Given the description of an element on the screen output the (x, y) to click on. 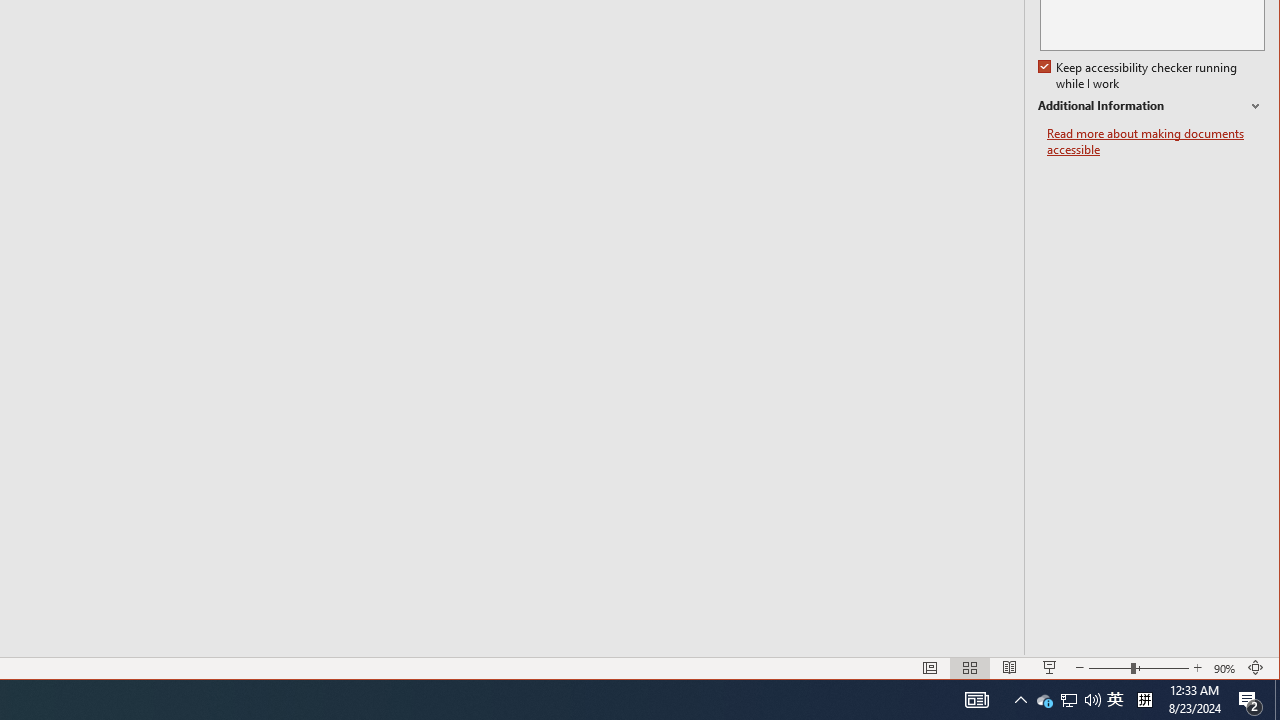
Q2790: 100% (1092, 699)
Notification Chevron (1020, 699)
Action Center, 2 new notifications (1250, 699)
Keep accessibility checker running while I work (1139, 76)
Zoom 90% (1225, 668)
Show desktop (1277, 699)
AutomationID: 4105 (976, 699)
User Promoted Notification Area (1044, 699)
Read more about making documents accessible (1068, 699)
Tray Input Indicator - Chinese (Simplified, China) (1155, 142)
